Given the description of an element on the screen output the (x, y) to click on. 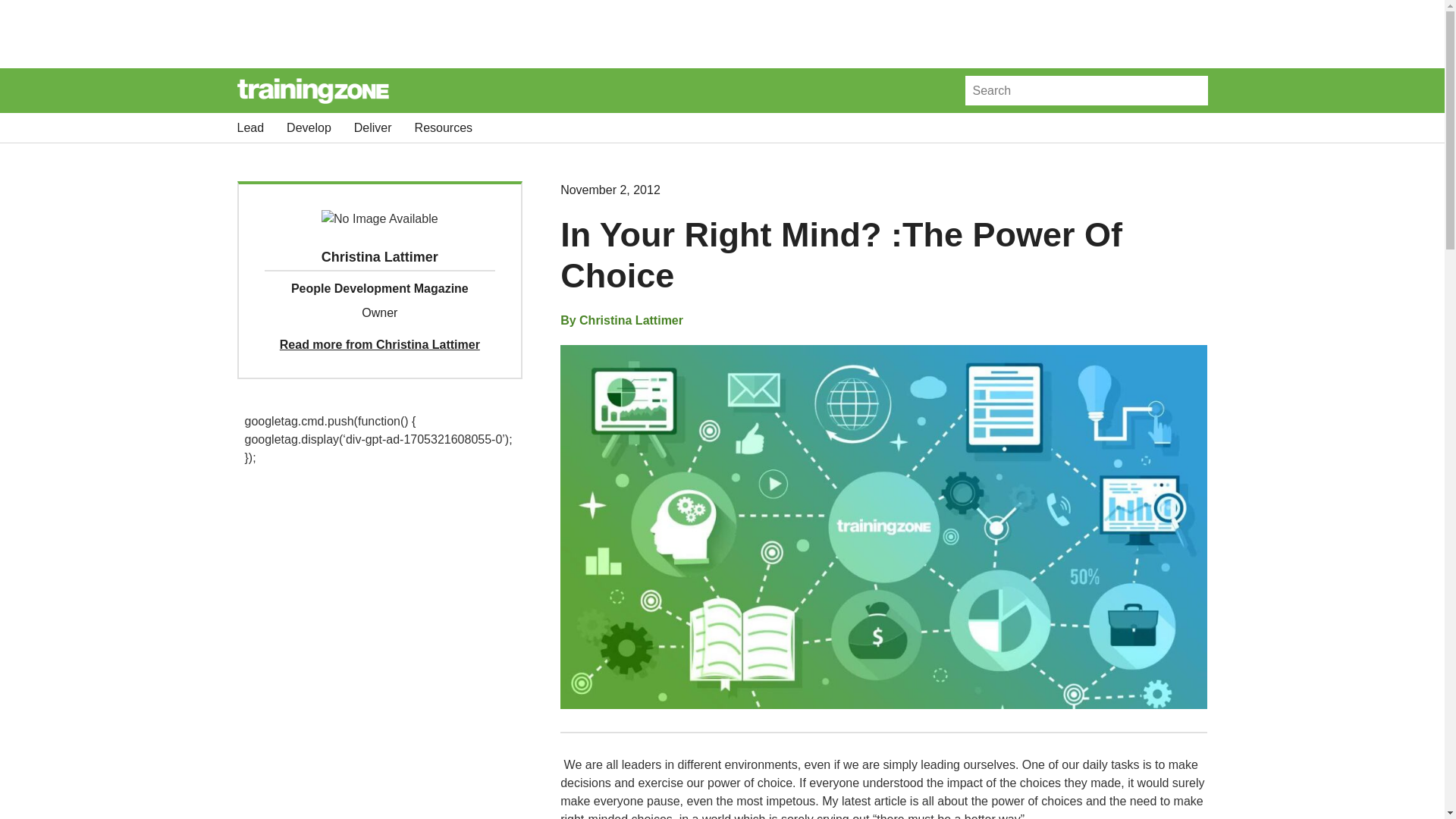
Read more from Christina Lattimer (379, 344)
Resources (442, 127)
By Christina Lattimer (621, 321)
Develop (308, 127)
Deliver (372, 127)
Lead (249, 127)
